Given the description of an element on the screen output the (x, y) to click on. 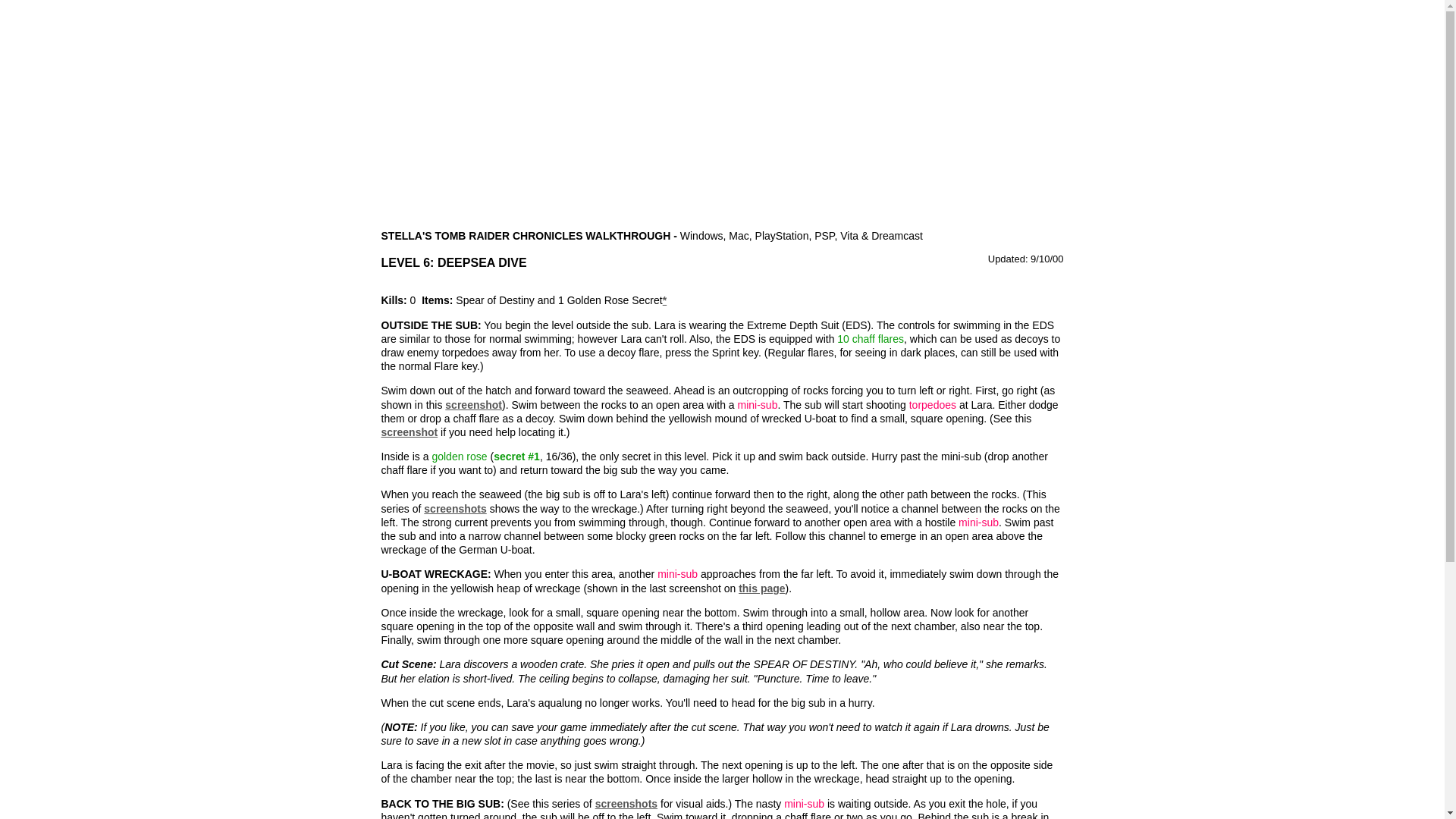
this page (761, 588)
screenshots (454, 508)
screenshot (409, 431)
screenshots (626, 803)
screenshot (473, 404)
